Given the description of an element on the screen output the (x, y) to click on. 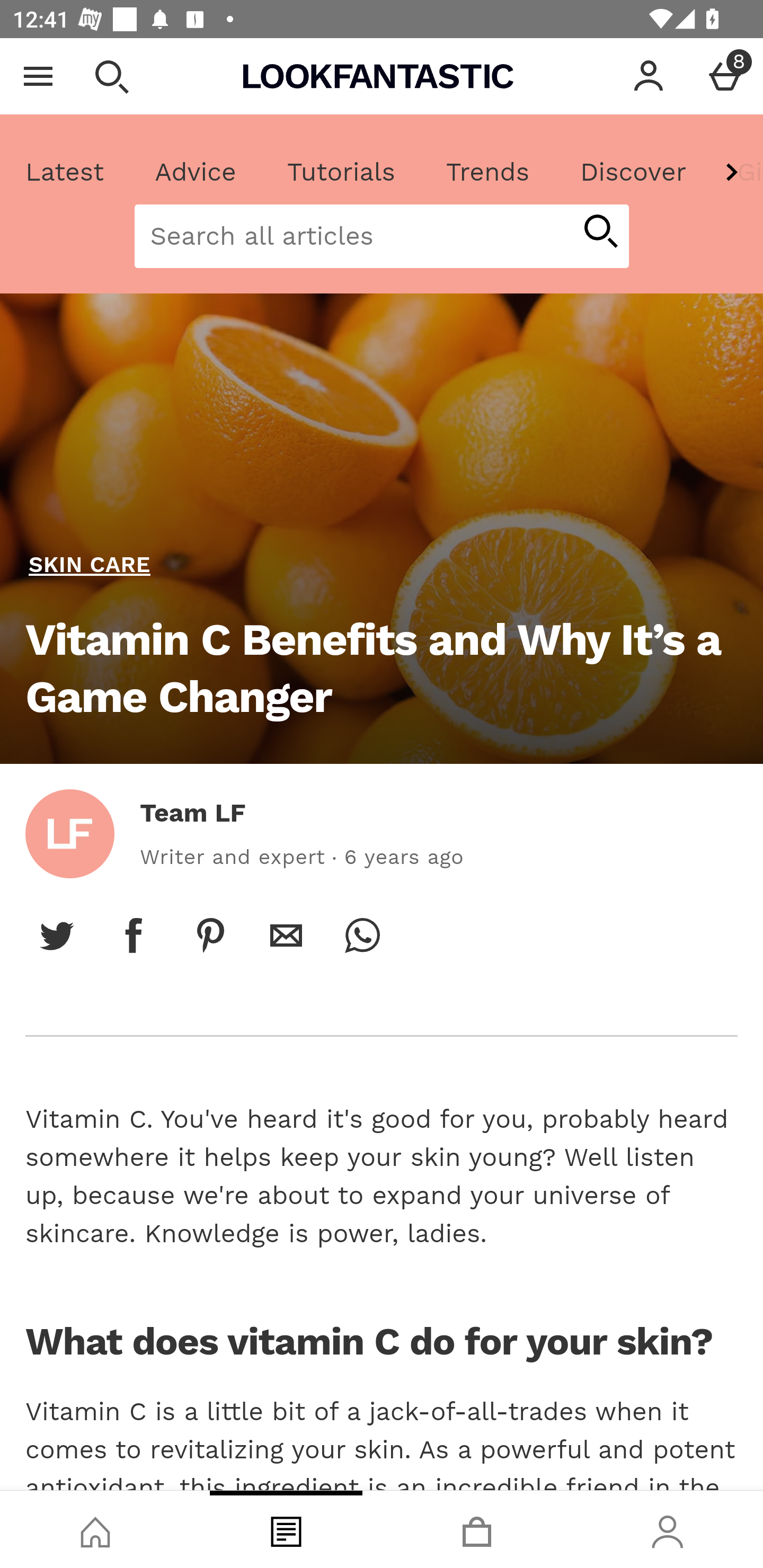
Open Menu (38, 75)
Open search (111, 75)
Account (648, 75)
Basket Menu (724, 75)
Latest (65, 172)
Advice (195, 172)
Tutorials (340, 172)
Trends (486, 172)
Discover (632, 172)
Gift Guide (736, 172)
start article search (599, 232)
SKIN CARE (89, 565)
View Team LF's profile (69, 833)
Team LF (192, 812)
Share this on Twitter (57, 935)
Share this on Facebook (133, 935)
Share this on Pinterest (209, 935)
Share this by Email (286, 935)
Share this on WhatsApp (362, 935)
Shop, tab, 1 of 4 (95, 1529)
Blog, tab, 2 of 4 (285, 1529)
Basket, tab, 3 of 4 (476, 1529)
Account, tab, 4 of 4 (667, 1529)
